Given the description of an element on the screen output the (x, y) to click on. 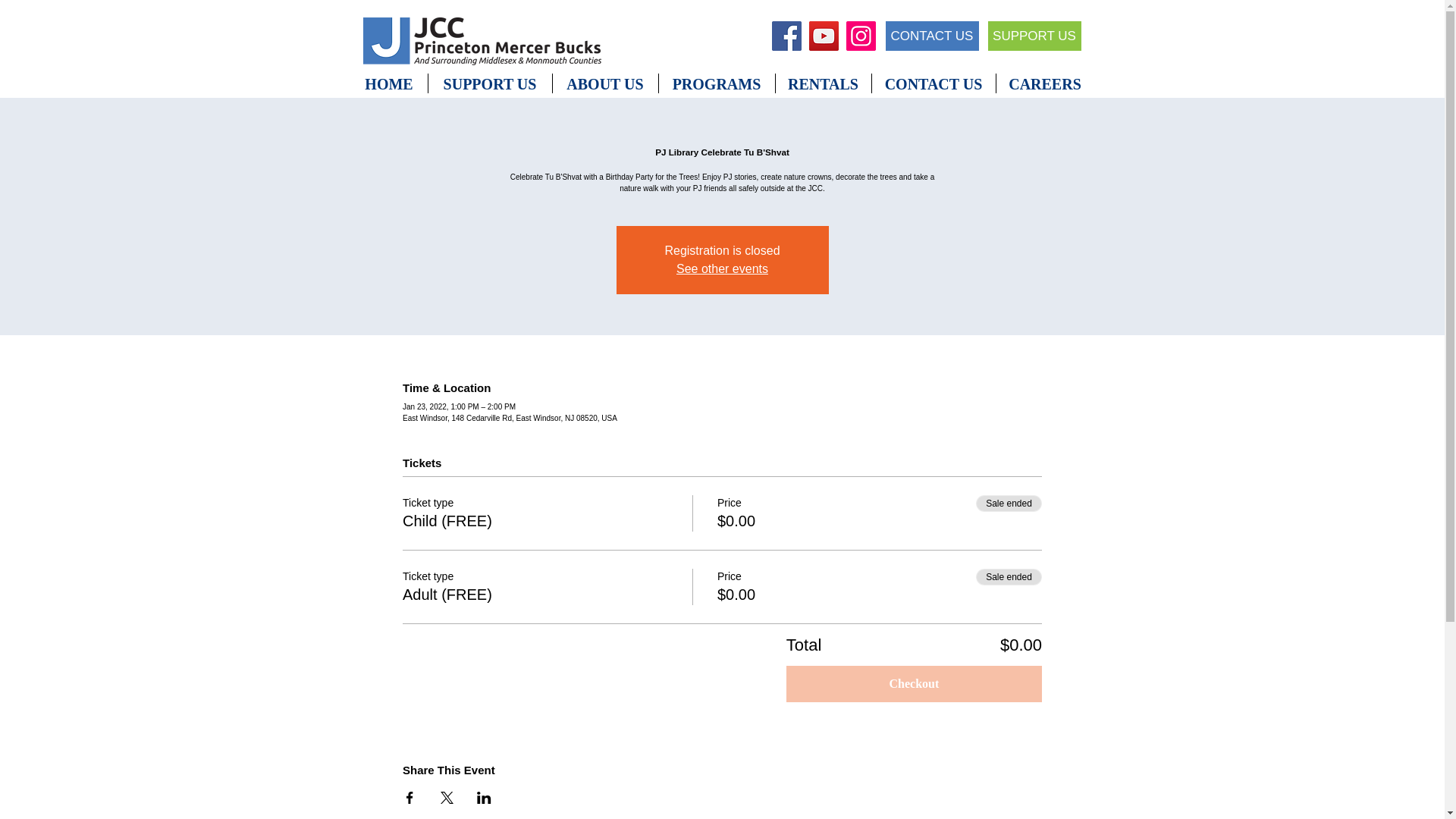
CAREERS (1044, 83)
SUPPORT US (1033, 35)
CONTACT US (931, 35)
PROGRAMS (716, 83)
HOME (388, 83)
Checkout (914, 683)
See other events (722, 268)
ABOUT US (604, 83)
RENTALS (822, 83)
CONTACT US (933, 83)
